Given the description of an element on the screen output the (x, y) to click on. 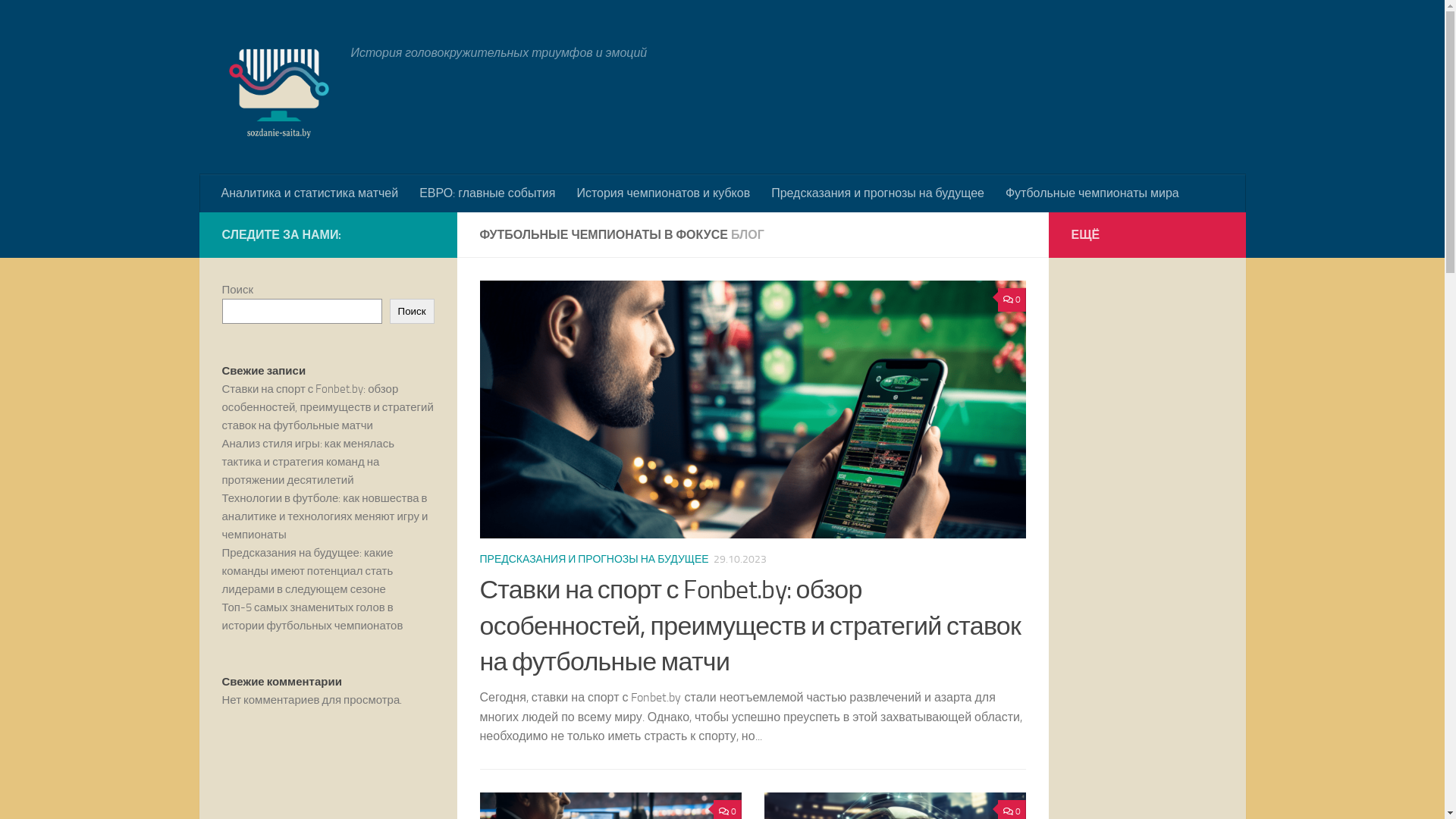
0 Element type: text (1011, 299)
